Given the description of an element on the screen output the (x, y) to click on. 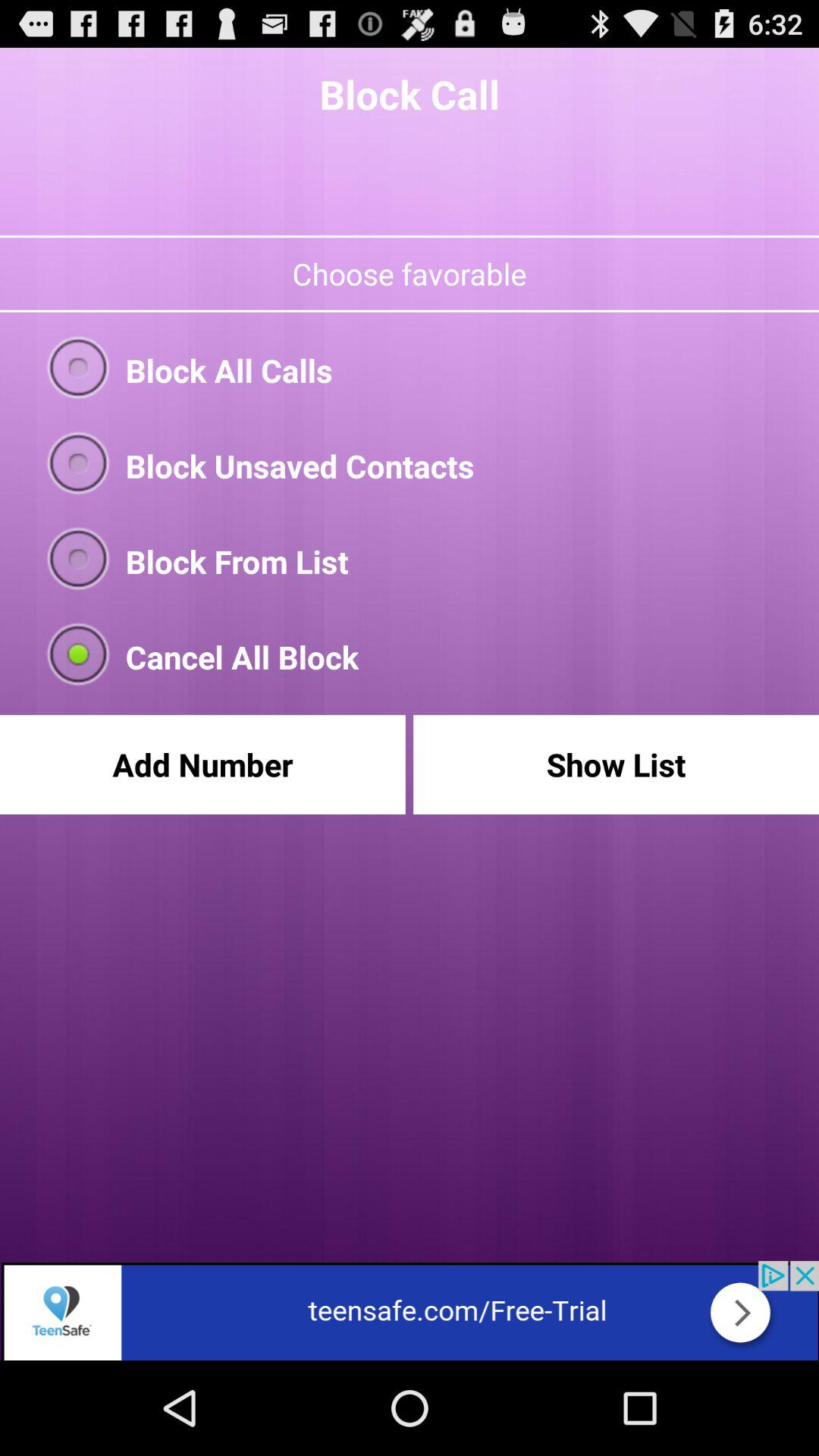
advertisement for teensafe (409, 1310)
